Given the description of an element on the screen output the (x, y) to click on. 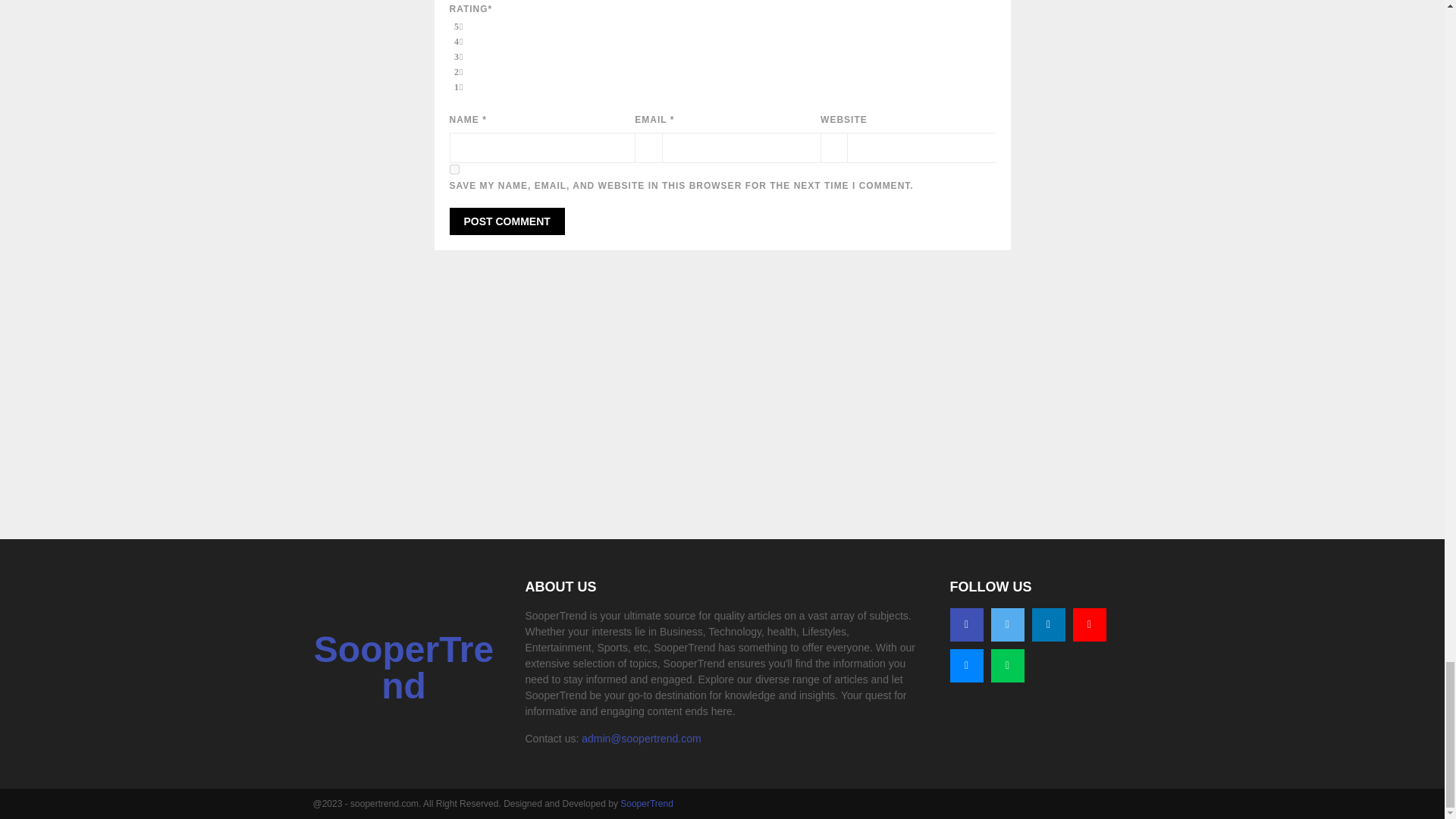
yes (453, 169)
Post Comment (506, 221)
